Given the description of an element on the screen output the (x, y) to click on. 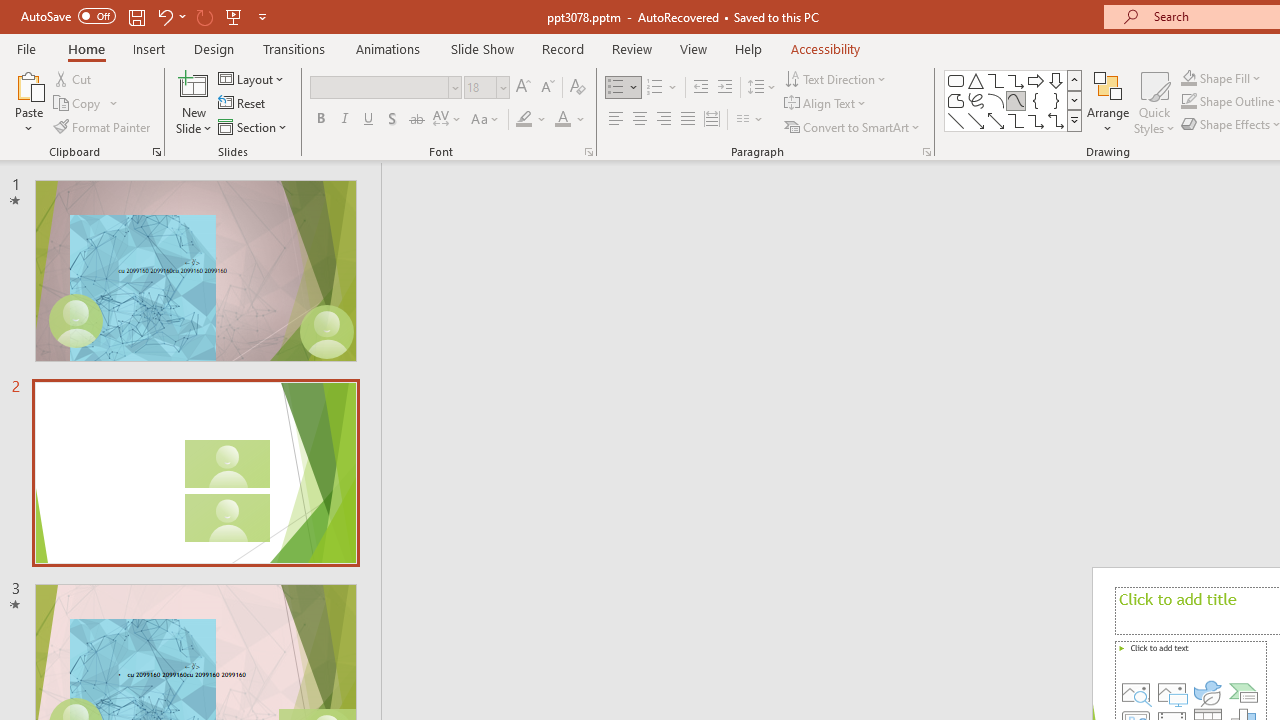
Insert a SmartArt Graphic (1243, 692)
